Given the description of an element on the screen output the (x, y) to click on. 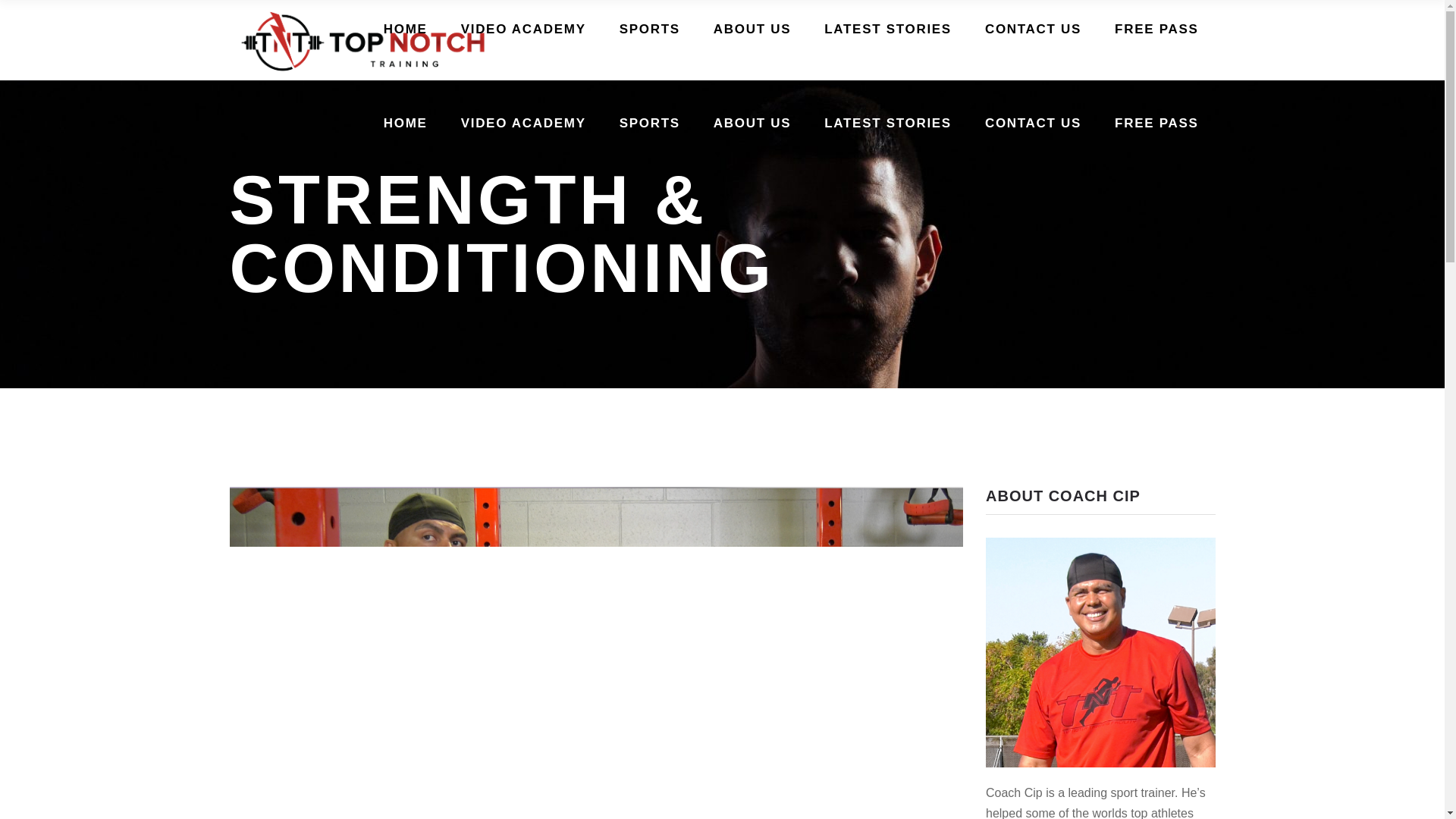
FREE PASS (1155, 120)
VIDEO ACADEMY (523, 26)
CONTACT US (1032, 120)
HOME (405, 120)
SPORTS (649, 120)
ABOUT US (752, 26)
HOME (405, 26)
VIDEO ACADEMY (523, 120)
ABOUT US (752, 120)
SPORTS (649, 26)
